Given the description of an element on the screen output the (x, y) to click on. 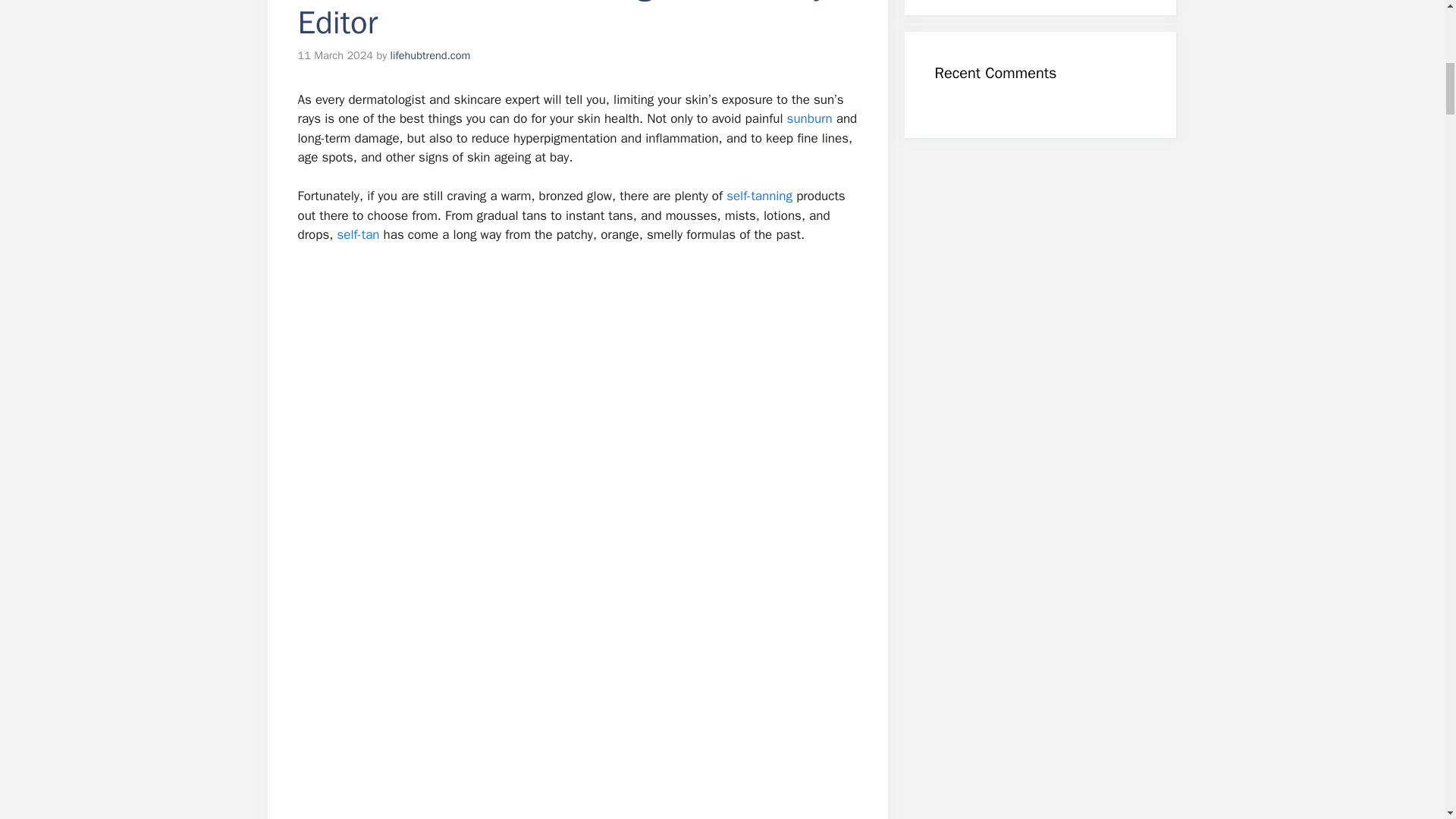
Scroll back to top (1406, 720)
View all posts by lifehubtrend.com (430, 55)
